Given the description of an element on the screen output the (x, y) to click on. 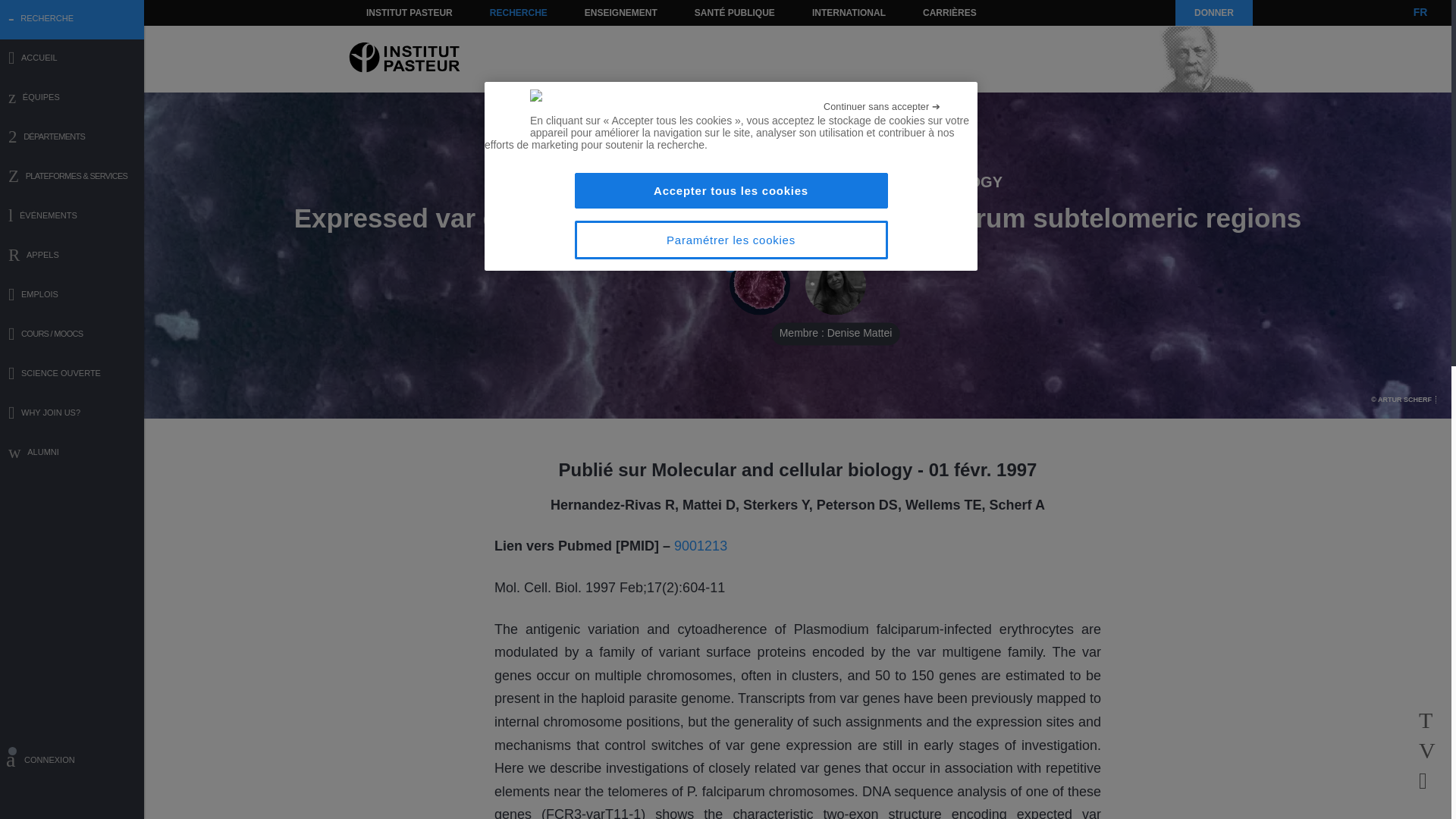
9001213 (700, 545)
CONNEXION (72, 762)
ACCUEIL (72, 59)
SCIENCE OUVERTE (72, 374)
INSTITUT PASTEUR (409, 12)
Aller au contenu (391, 11)
EMPLOIS (72, 296)
APPELS (72, 256)
Aller au contenu (391, 11)
INTERNATIONAL (848, 12)
